Given the description of an element on the screen output the (x, y) to click on. 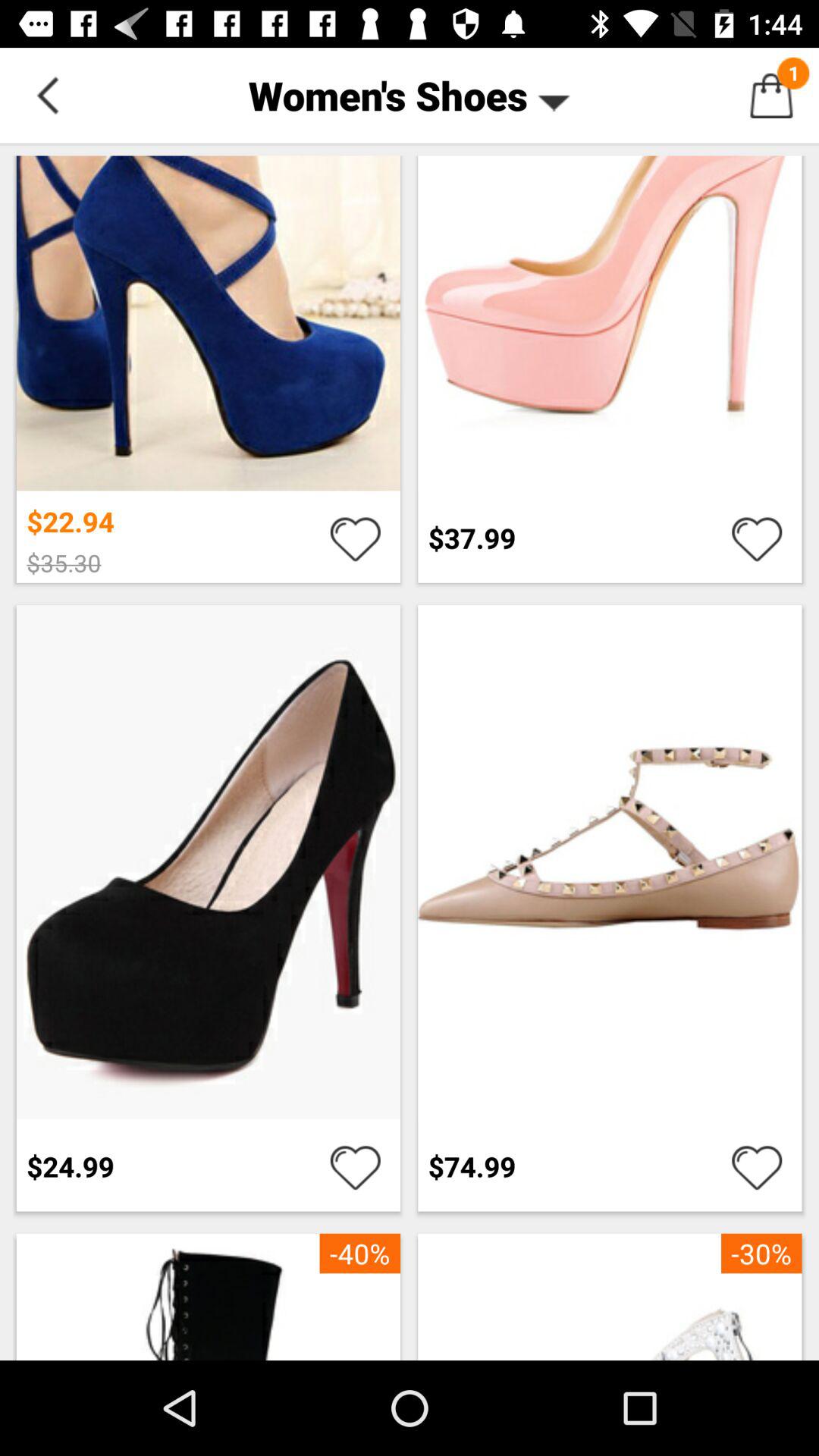
turn on button next to women's shoes item (47, 95)
